Given the description of an element on the screen output the (x, y) to click on. 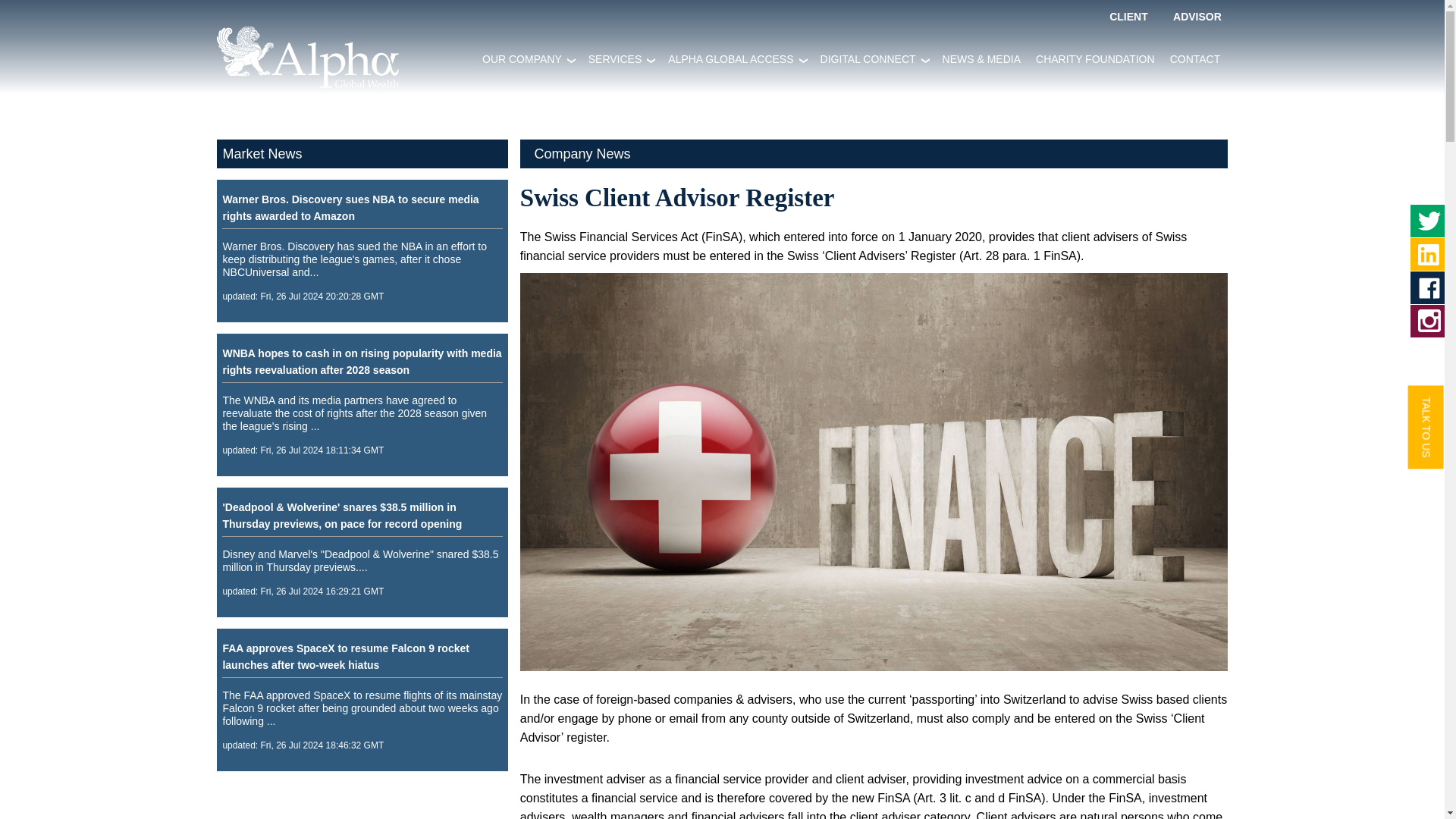
ALPHA GLOBAL ACCESS (749, 48)
CLIENT (1127, 16)
ADVISOR (1197, 16)
DIGITAL CONNECT (886, 48)
OUR COMPANY (540, 48)
SERVICES (633, 48)
